Given the description of an element on the screen output the (x, y) to click on. 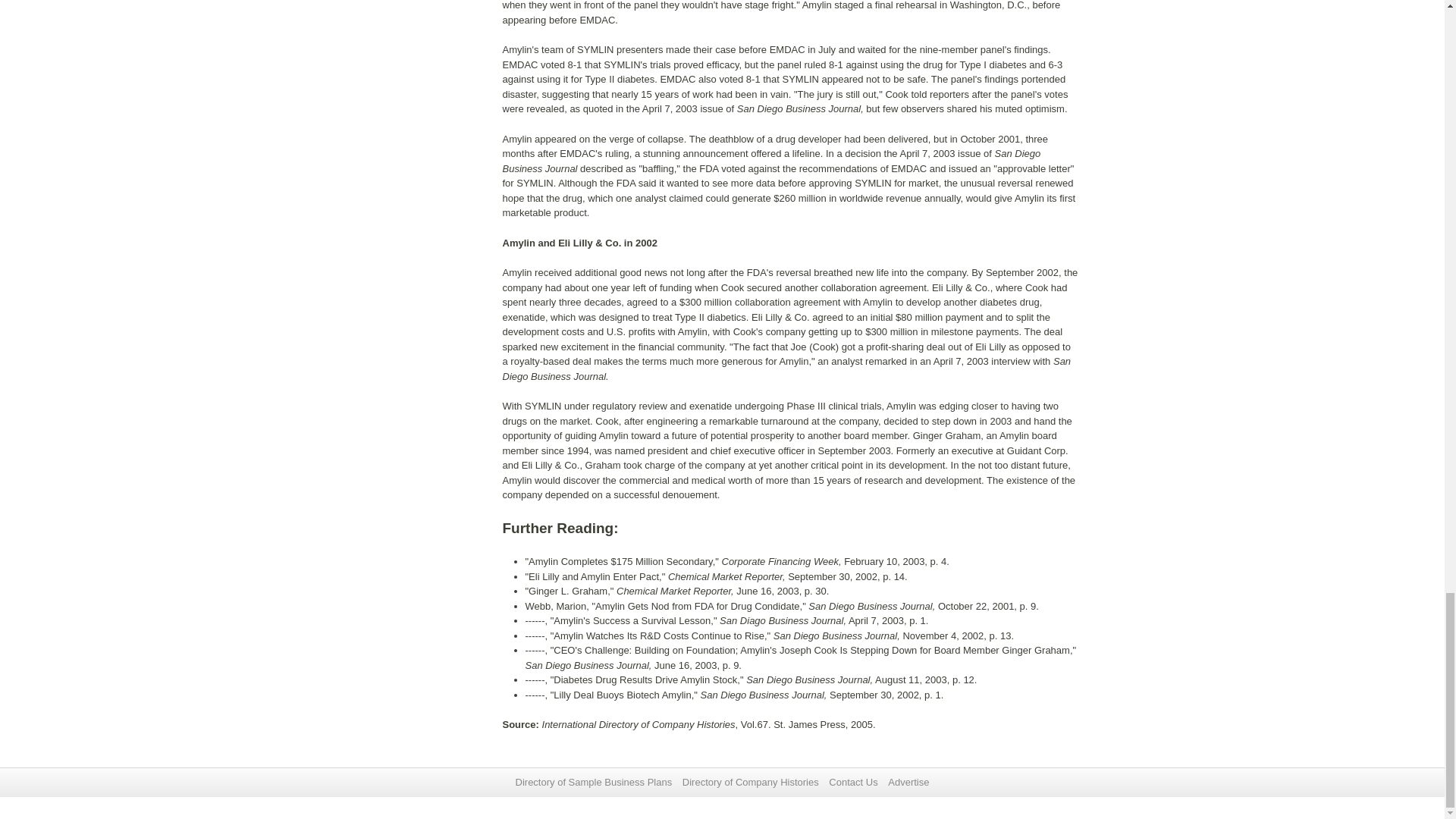
Directory of Sample Business Plans (593, 781)
Directory of Company Histories (750, 781)
Contact Us (852, 781)
Advertise (908, 781)
